Given the description of an element on the screen output the (x, y) to click on. 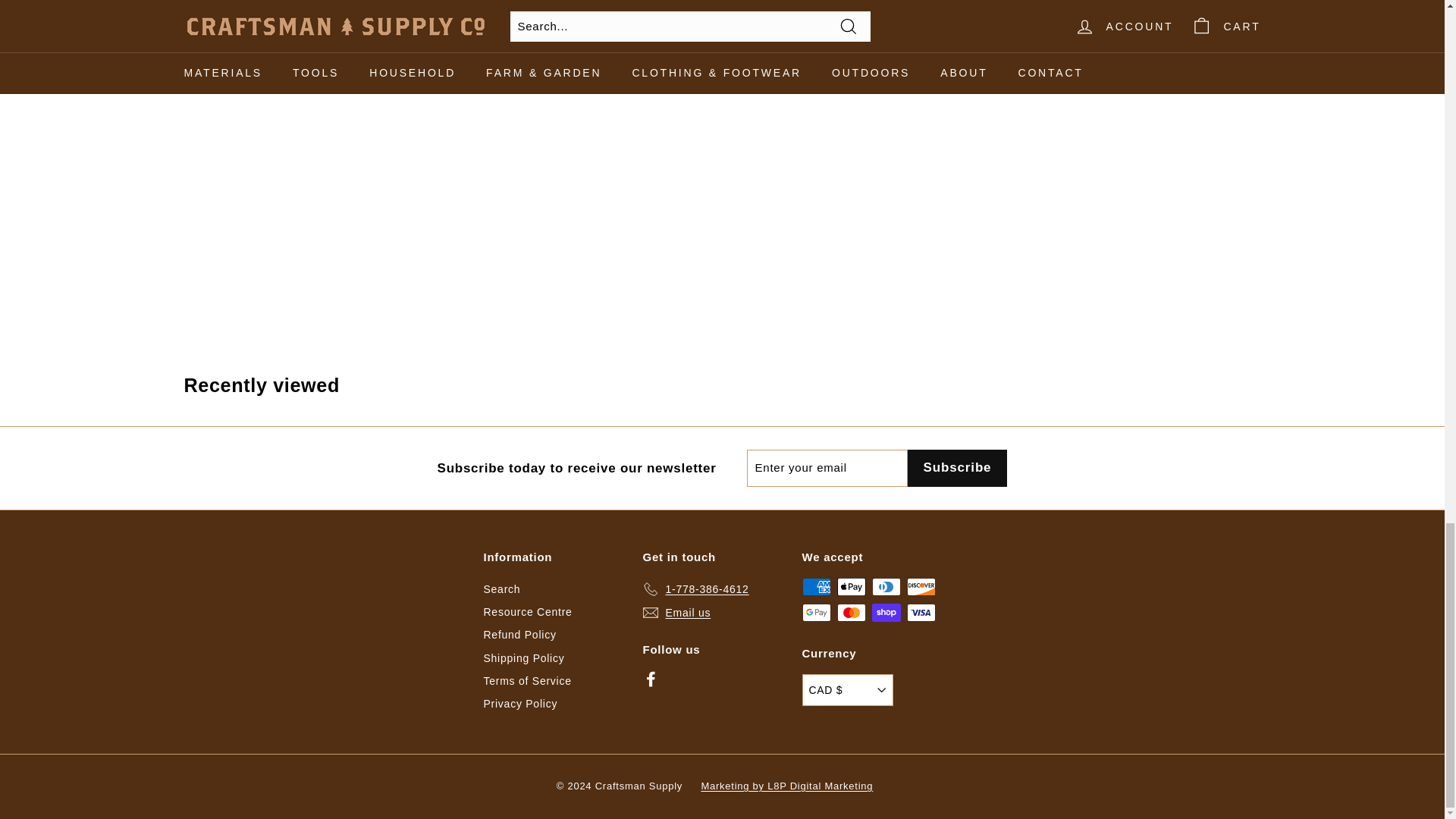
Shop Pay (886, 612)
Mastercard (851, 612)
Apple Pay (851, 587)
American Express (816, 587)
Google Pay (816, 612)
Craftsman Supply on Facebook (651, 678)
Discover (921, 587)
Visa (921, 612)
Diners Club (886, 587)
